Given the description of an element on the screen output the (x, y) to click on. 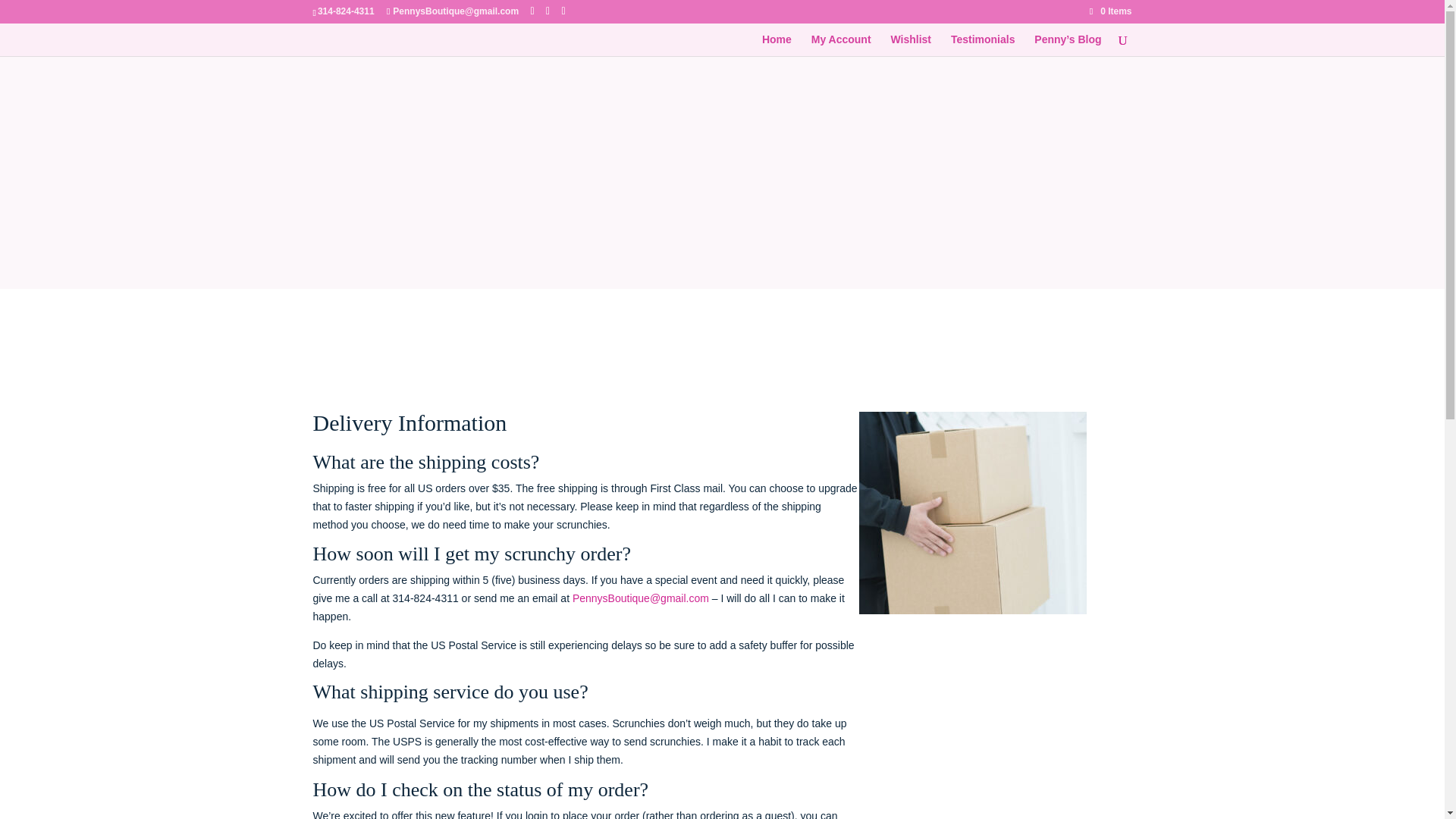
0 Items (1110, 10)
My Account (840, 45)
Home (776, 45)
hardware-54 (972, 512)
Testimonials (982, 45)
Wishlist (910, 45)
